Given the description of an element on the screen output the (x, y) to click on. 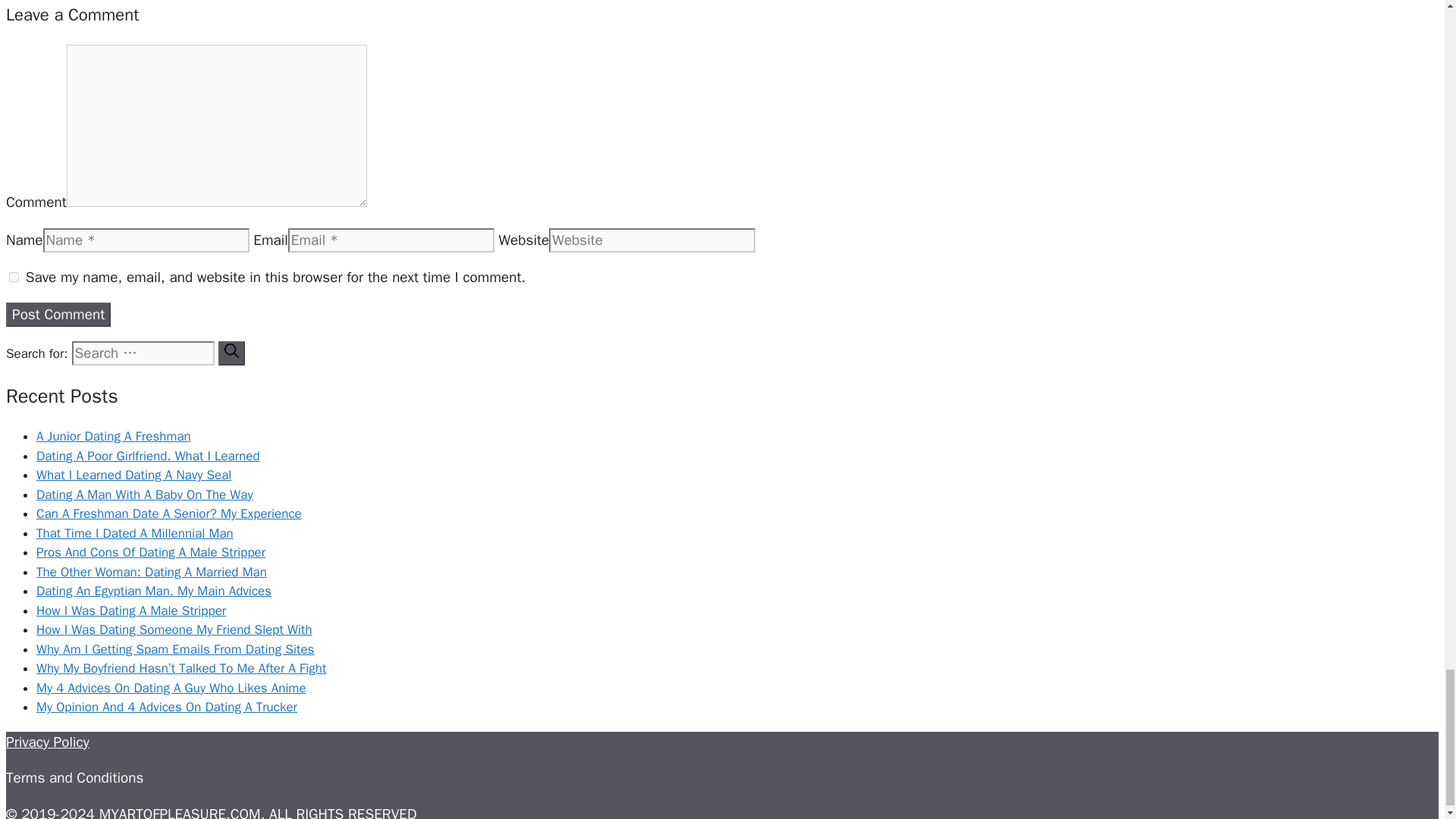
That Time I Dated A Millennial Man (134, 533)
How I Was Dating A Male Stripper (130, 610)
Post Comment (57, 314)
yes (13, 276)
Dating A Poor Girlfriend. What I Learned (148, 455)
The Other Woman: Dating A Married Man (151, 571)
My Opinion And 4 Advices On Dating A Trucker (166, 706)
What I Learned Dating A Navy Seal (133, 474)
Post Comment (57, 314)
How I Was Dating Someone My Friend Slept With (174, 629)
Dating An Egyptian Man. My Main Advices (153, 590)
Search for: (142, 353)
A Junior Dating A Freshman (113, 436)
My 4 Advices On Dating A Guy Who Likes Anime (170, 688)
Can A Freshman Date A Senior? My Experience (168, 513)
